Given the description of an element on the screen output the (x, y) to click on. 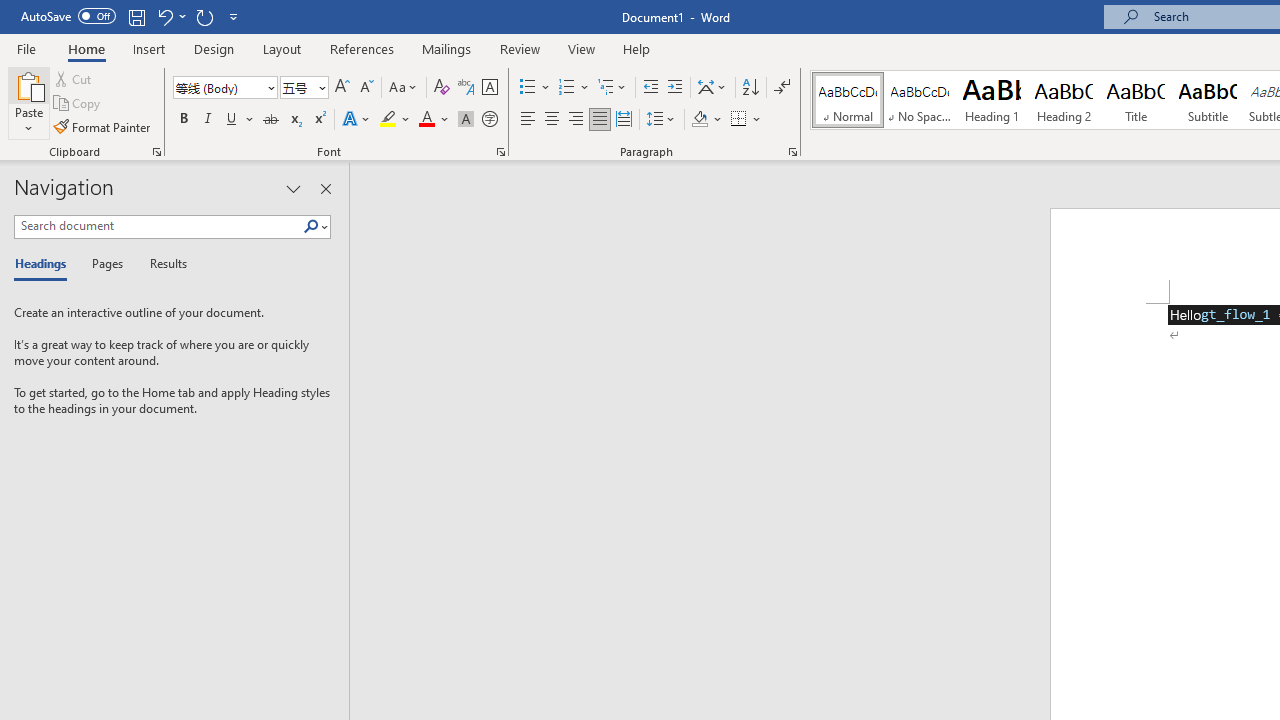
Undo Paste (170, 15)
Repeat Paste (204, 15)
